Given the description of an element on the screen output the (x, y) to click on. 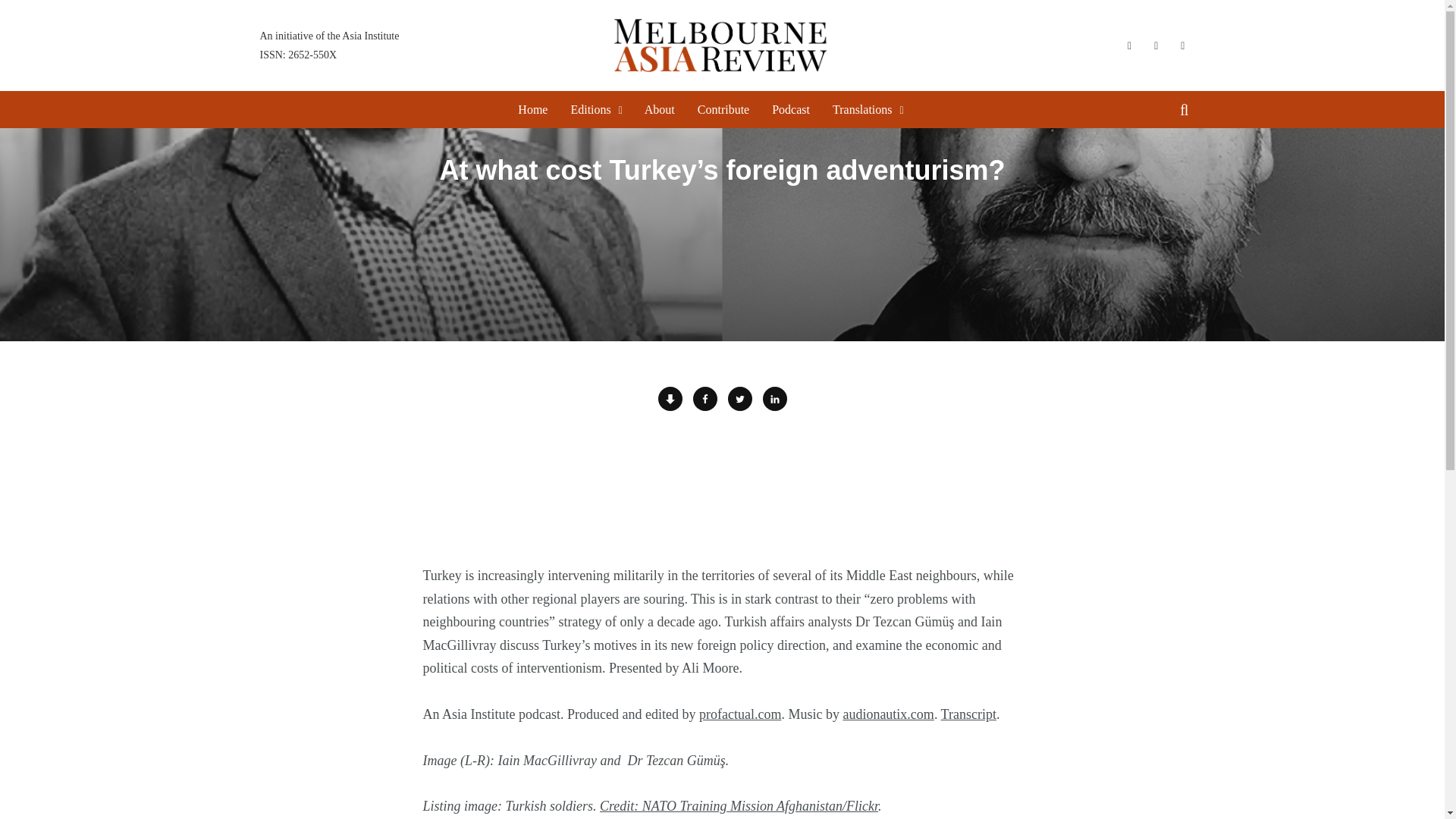
Share on Facebook (705, 398)
Podcast (790, 109)
Share on LinkedIn (328, 45)
Contribute (774, 398)
Home (723, 109)
About (532, 109)
Ear to Asia (660, 109)
Share on Twitter (722, 491)
Download article as PDF (740, 398)
